Given the description of an element on the screen output the (x, y) to click on. 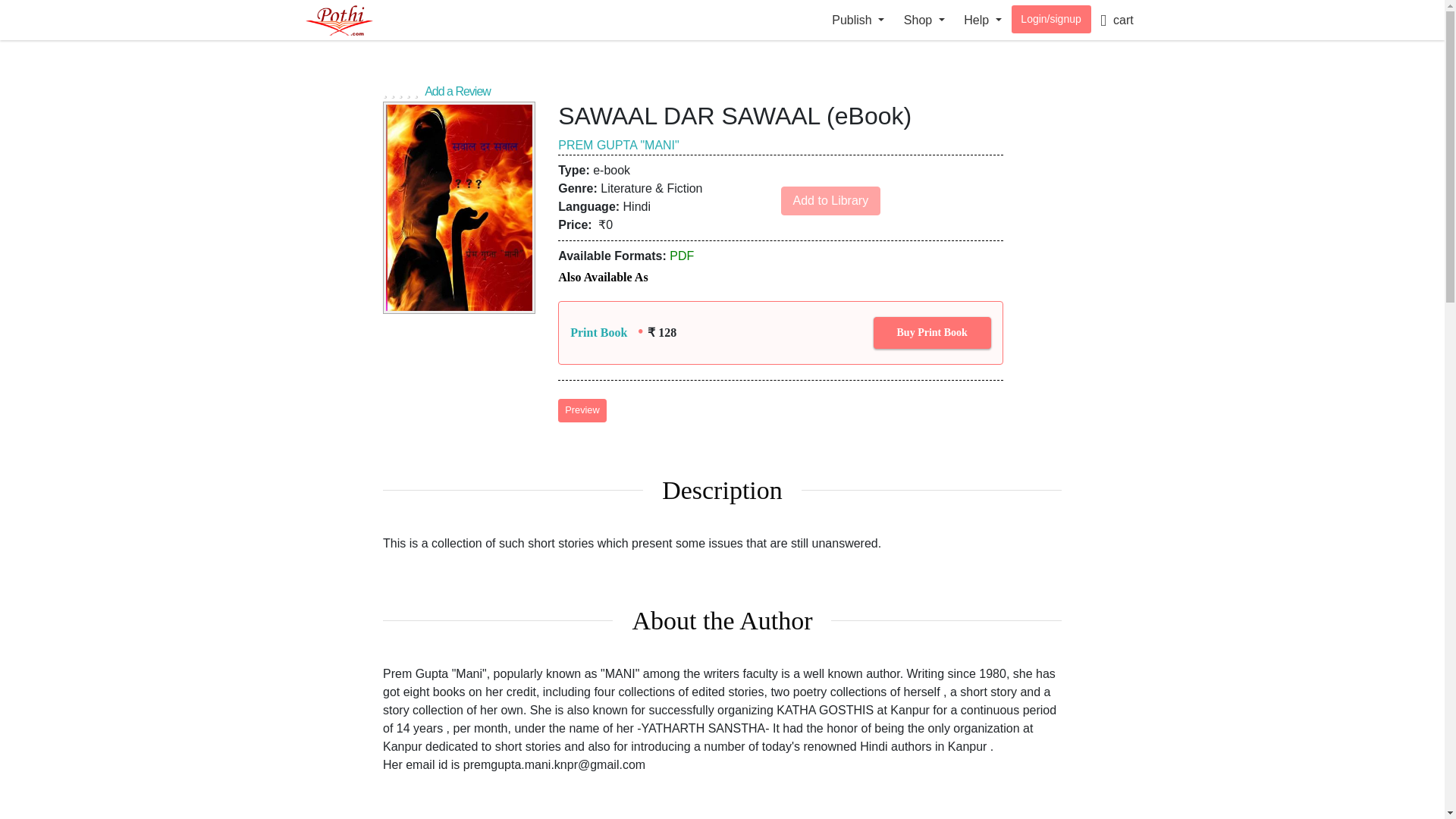
Shop (923, 20)
Help (983, 20)
Buy Print Book (932, 332)
pothi.com (354, 20)
  cart (1116, 20)
Publish (857, 20)
Add to Library (830, 200)
Print Book (598, 332)
Add a Review (721, 89)
Preview (582, 409)
